Given the description of an element on the screen output the (x, y) to click on. 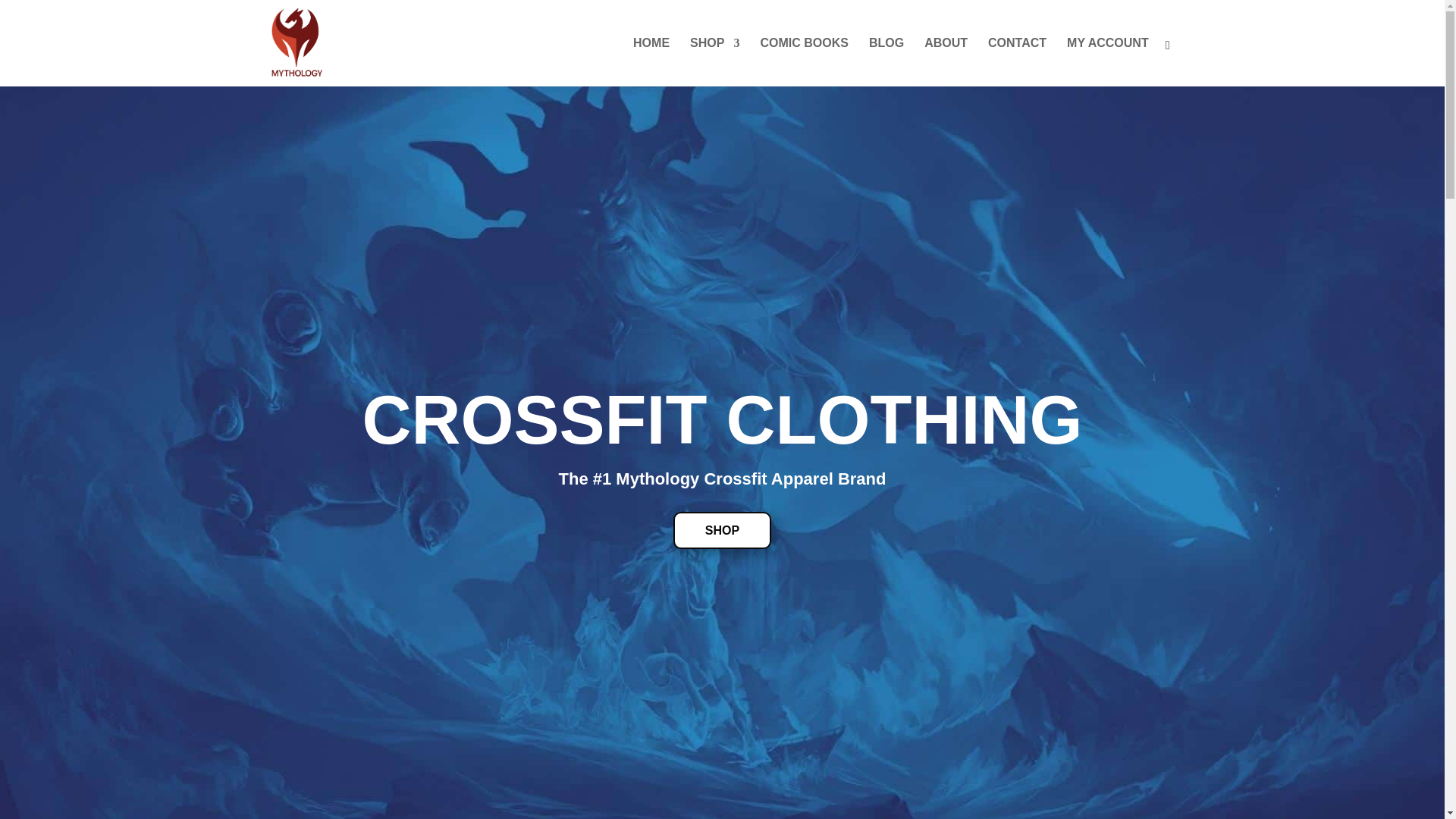
MY ACCOUNT (1107, 61)
COMIC BOOKS (803, 61)
submit (835, 563)
SHOP (714, 61)
SHOP (721, 529)
CONTACT (1017, 61)
ABOUT (946, 61)
